Given the description of an element on the screen output the (x, y) to click on. 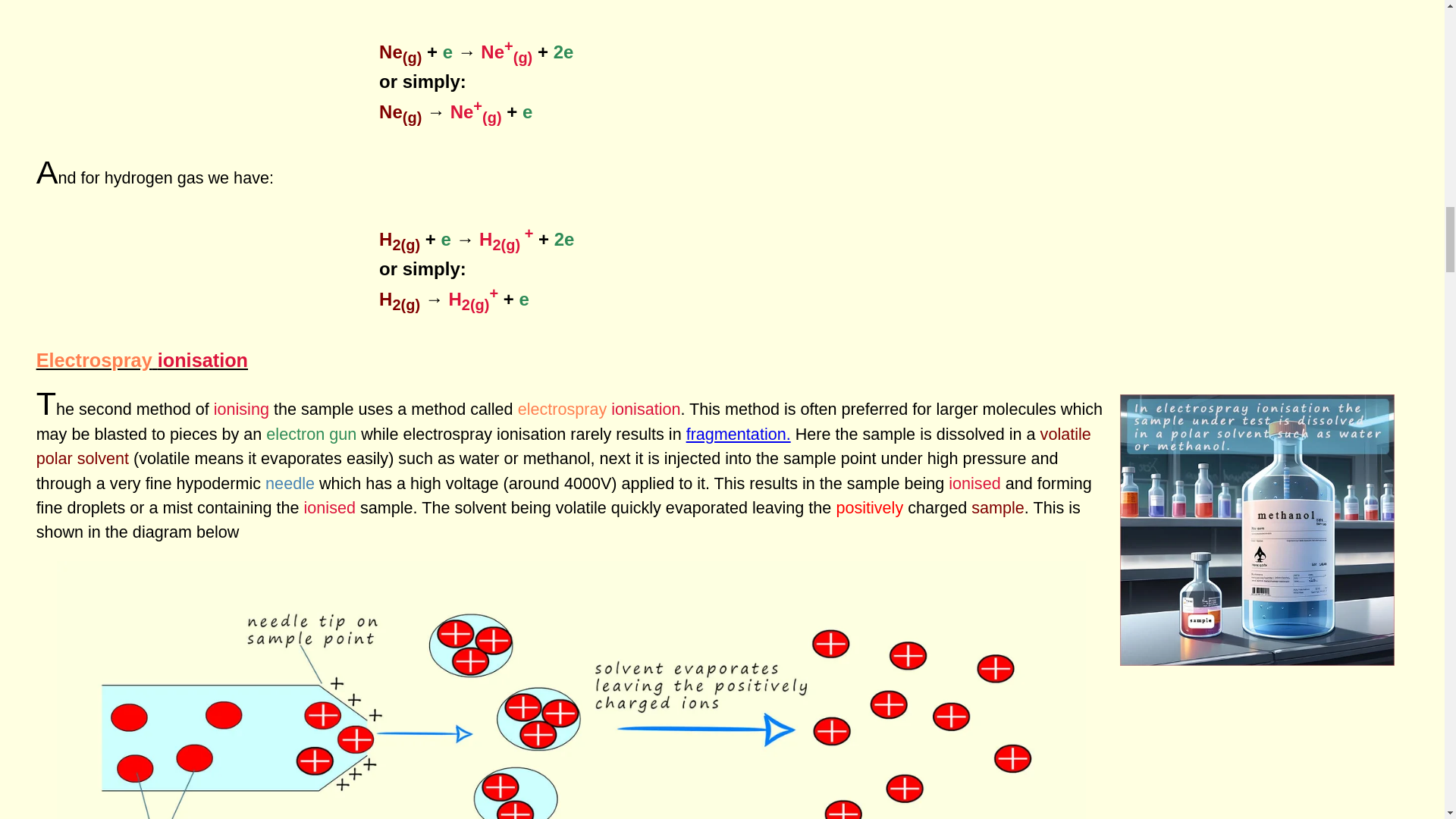
fragmentation. (737, 434)
